Given the description of an element on the screen output the (x, y) to click on. 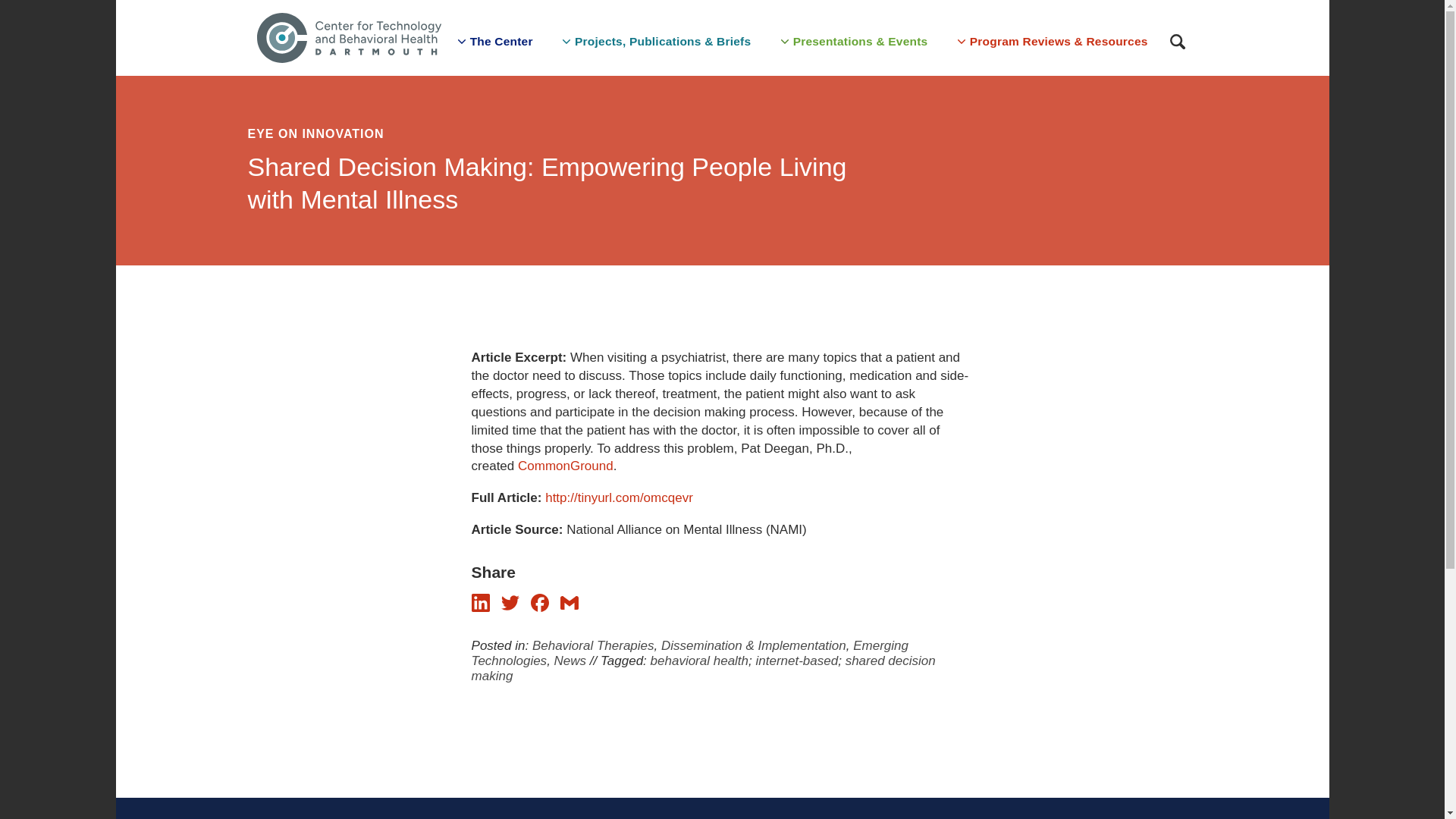
behavioral health (699, 660)
Facebook (539, 602)
Gmail (569, 607)
shared decision making (703, 668)
News (570, 660)
EYE ON INNOVATION (568, 134)
Twitter (509, 602)
The Center (493, 38)
LinkedIn (480, 607)
LinkedIn (480, 602)
